Given the description of an element on the screen output the (x, y) to click on. 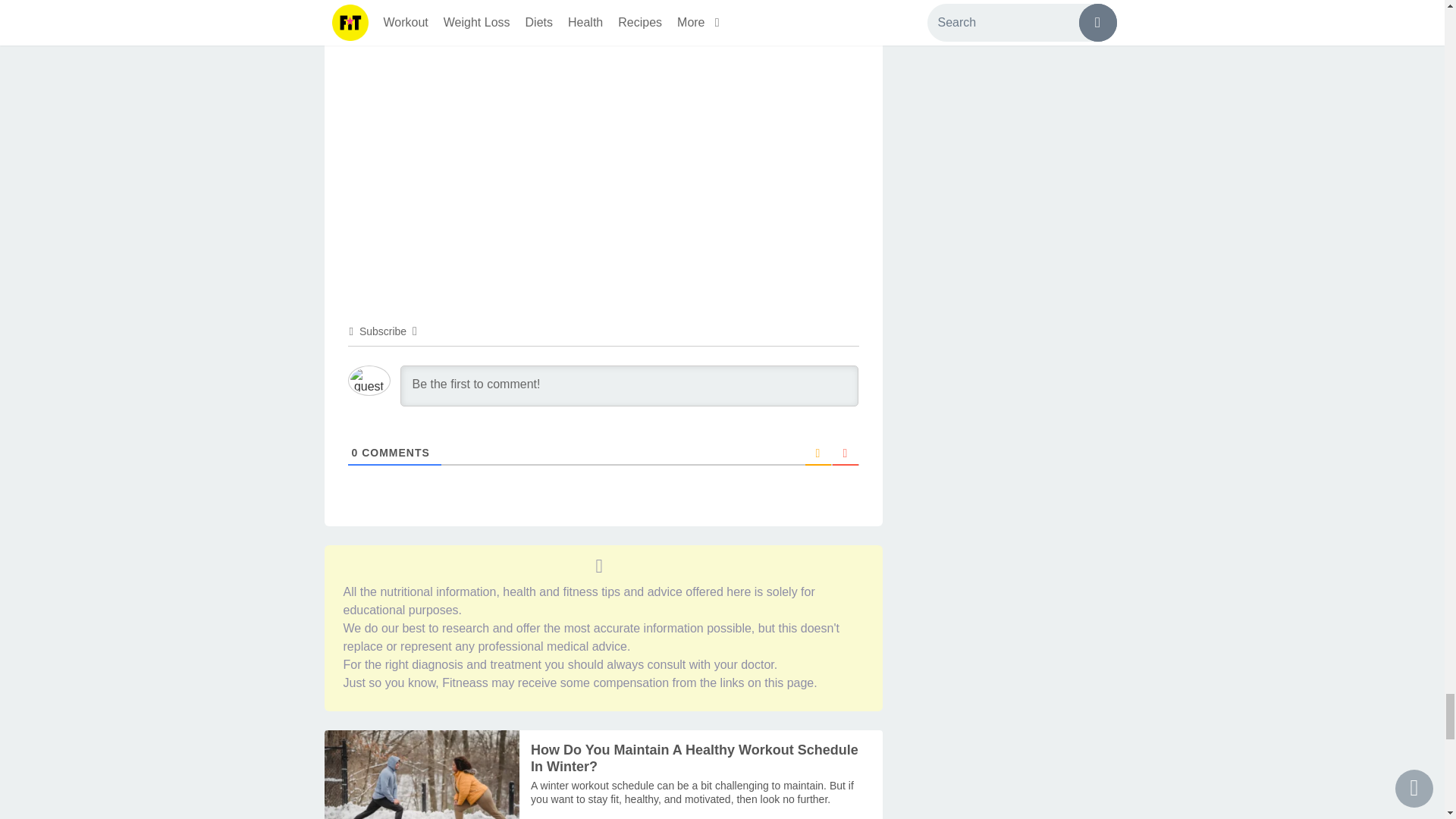
How Do You Maintain a Healthy Workout Schedule in Winter? (695, 757)
How Do You Maintain a Healthy Workout Schedule in Winter? (421, 774)
How Do You Maintain a Healthy Workout Schedule in Winter? (692, 792)
